Given the description of an element on the screen output the (x, y) to click on. 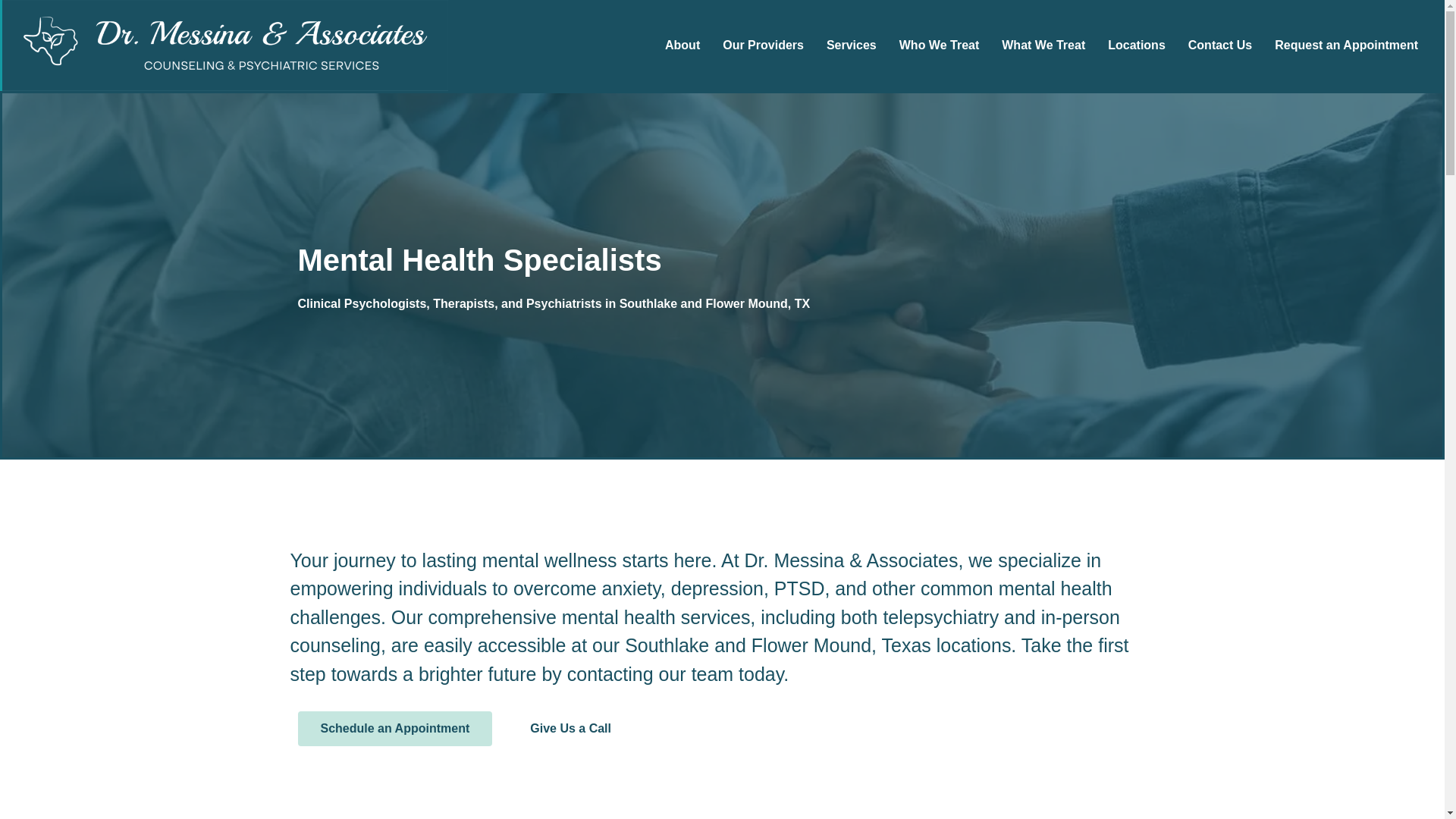
Contact Us (1219, 45)
Our Providers (763, 45)
What We Treat (1043, 45)
About (682, 45)
Who We Treat (939, 45)
Request an Appointment (1346, 45)
Locations (1136, 45)
Services (851, 45)
